Given the description of an element on the screen output the (x, y) to click on. 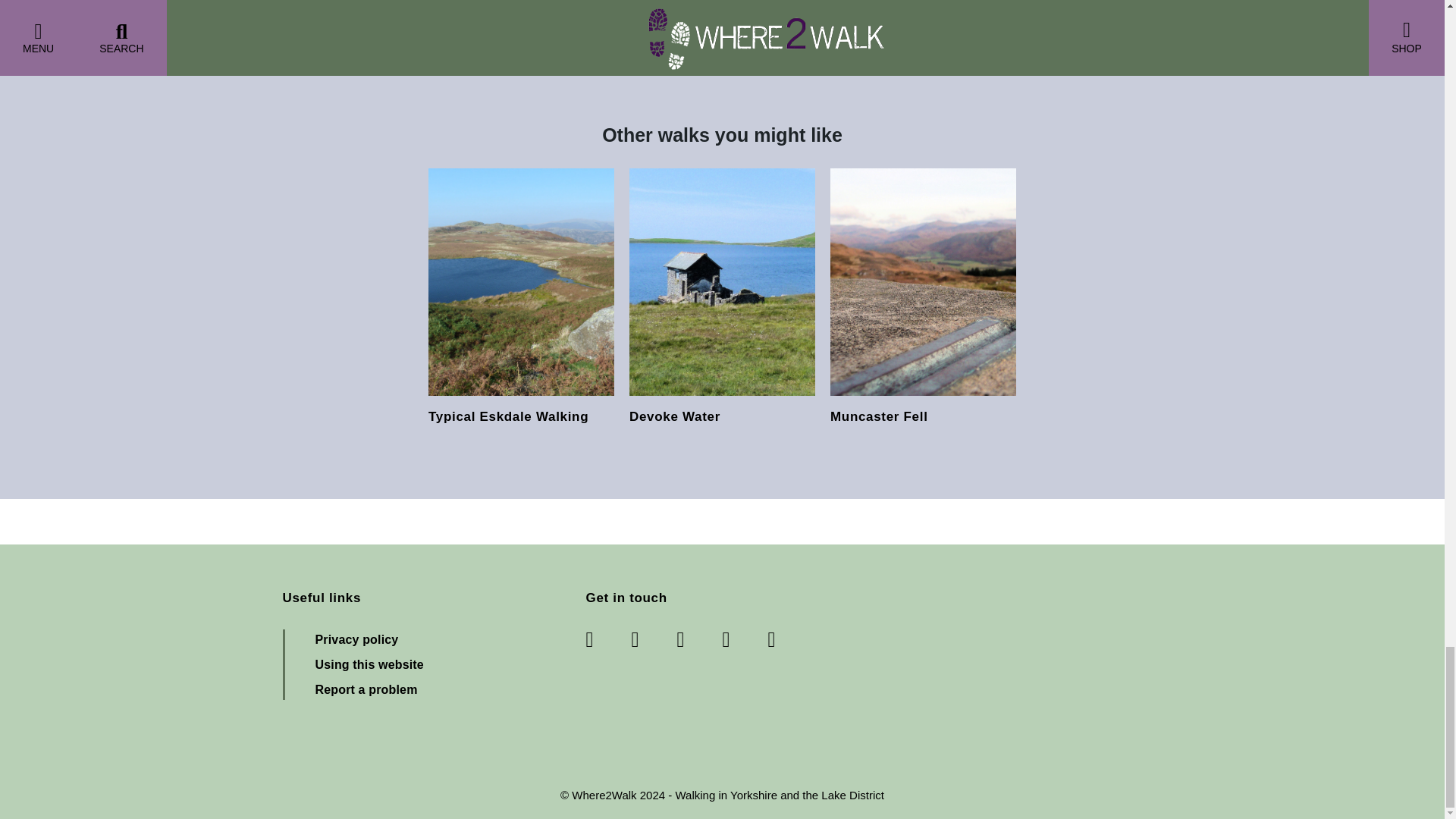
Post Comment (341, 12)
Using this website (369, 664)
Find me on Facebook (607, 640)
Report a problem (366, 689)
Find me on Instagram (699, 640)
Find me on YouTube (744, 640)
Find me on Twitter (653, 640)
Post Comment (341, 12)
Privacy policy (356, 639)
Email me (778, 640)
